Given the description of an element on the screen output the (x, y) to click on. 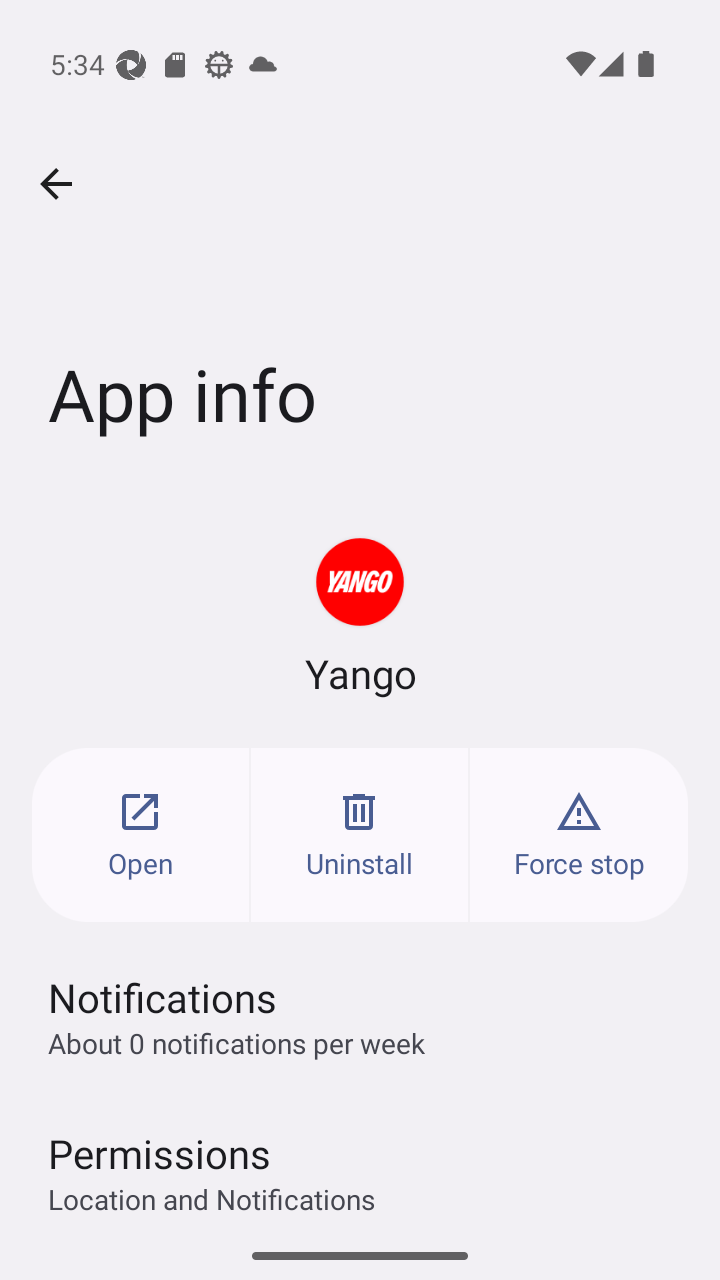
Navigate up (56, 184)
Open (140, 834)
Uninstall (359, 834)
Force stop (579, 834)
Notifications About 0 notifications per week (360, 1016)
Permissions Location and Notifications (360, 1162)
